Given the description of an element on the screen output the (x, y) to click on. 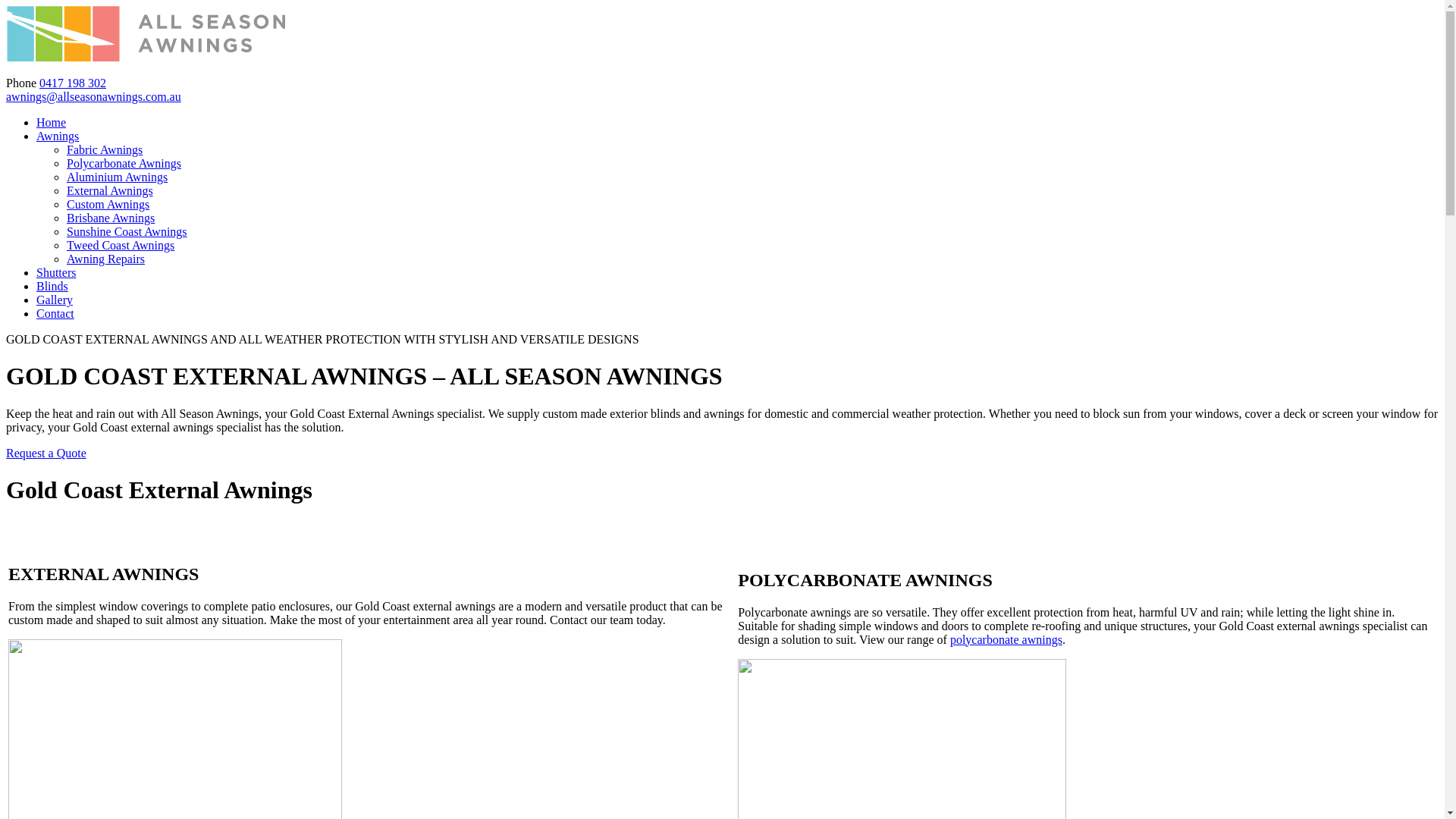
Tweed Coast Awnings Element type: text (120, 244)
External Awnings Element type: text (109, 190)
Shutters Element type: text (55, 272)
Brisbane Awnings Element type: text (110, 217)
Aluminium Awnings Element type: text (116, 176)
Awnings Element type: text (57, 135)
All Season Awnings Element type: hover (145, 56)
Polycarbonate Awnings Element type: text (123, 162)
Blinds Element type: text (52, 285)
0417 198 302 Element type: text (72, 82)
Custom Awnings Element type: text (107, 203)
Sunshine Coast Awnings Element type: text (126, 231)
Fabric Awnings Element type: text (104, 149)
Request a Quote Element type: text (46, 452)
awnings@allseasonawnings.com.au Element type: text (93, 96)
Gallery Element type: text (54, 299)
Home Element type: text (50, 122)
polycarbonate awnings Element type: text (1006, 639)
Contact Element type: text (55, 313)
Awning Repairs Element type: text (105, 258)
